Given the description of an element on the screen output the (x, y) to click on. 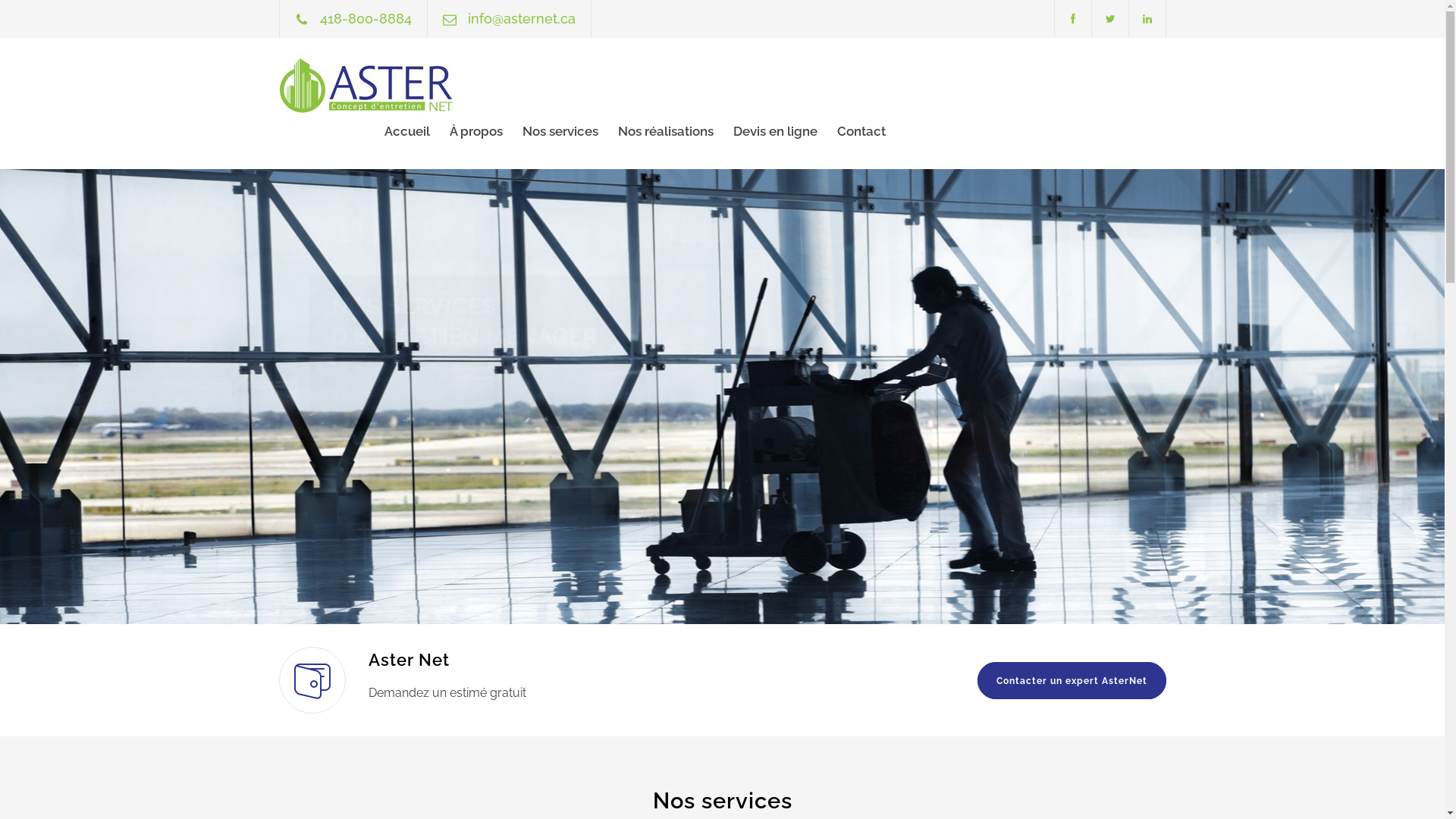
Devis en ligne Element type: text (764, 130)
Contact Element type: text (851, 130)
Contacter un expert AsterNet Element type: text (1070, 680)
twitter Element type: hover (1110, 18)
facebook Element type: hover (1072, 18)
linkedin Element type: hover (1146, 18)
Accueil Element type: text (406, 130)
asternet Element type: hover (419, 84)
ASTER NET Element type: text (363, 306)
En savoir plus Element type: text (356, 449)
Nos services Element type: text (549, 130)
